Given the description of an element on the screen output the (x, y) to click on. 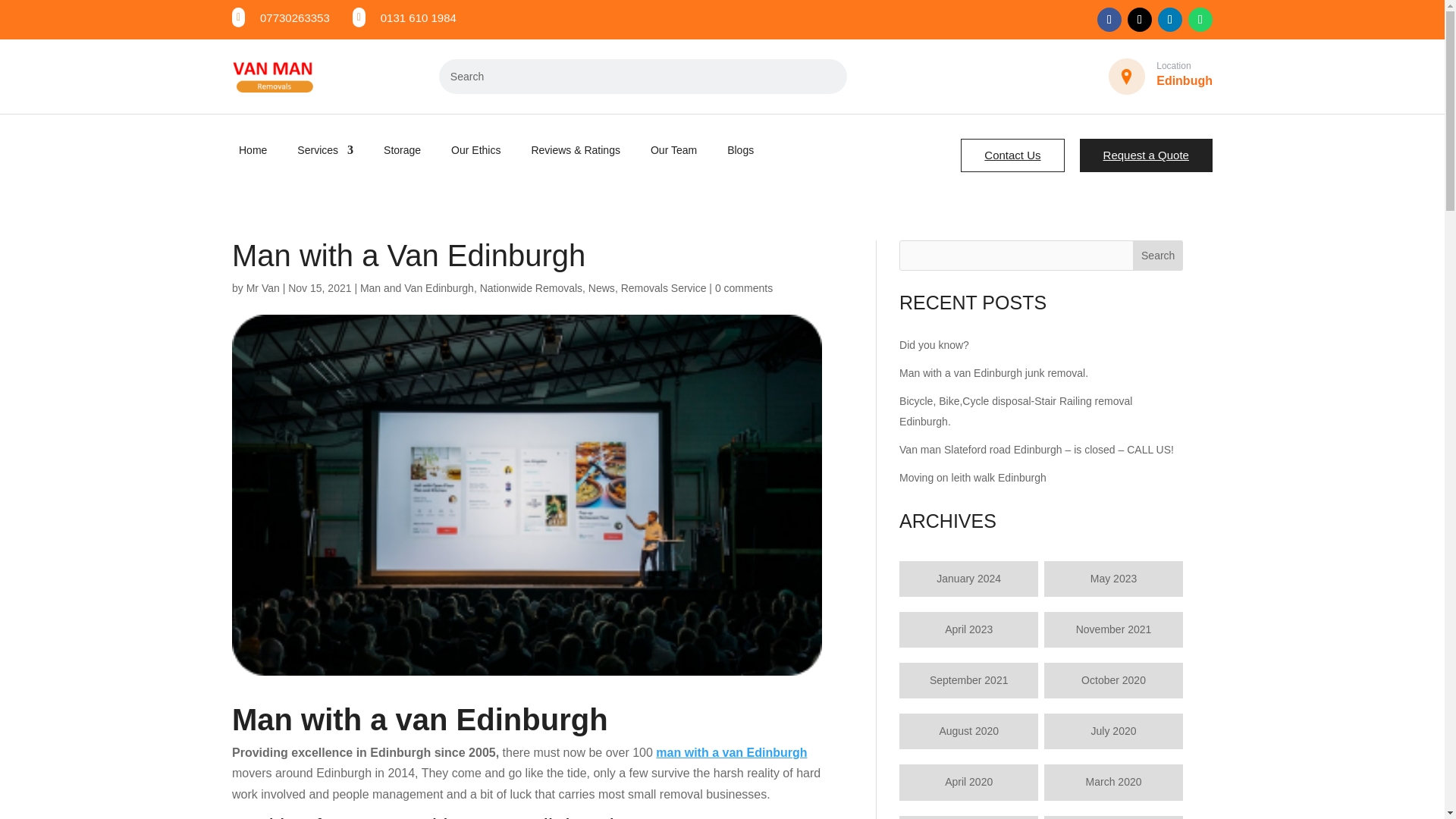
Search (467, 76)
Contact Us (1012, 154)
Our Team (673, 149)
Posts by Mr Van (262, 287)
Follow on WhatsApp (1200, 19)
Services (325, 149)
Our Ethics (475, 149)
Follow on X (1138, 19)
Search (467, 76)
Follow on LinkedIn (1169, 19)
Search (467, 76)
Request a Quote (1146, 154)
Follow on Facebook (1109, 19)
Home (252, 149)
logo 1 (272, 75)
